Given the description of an element on the screen output the (x, y) to click on. 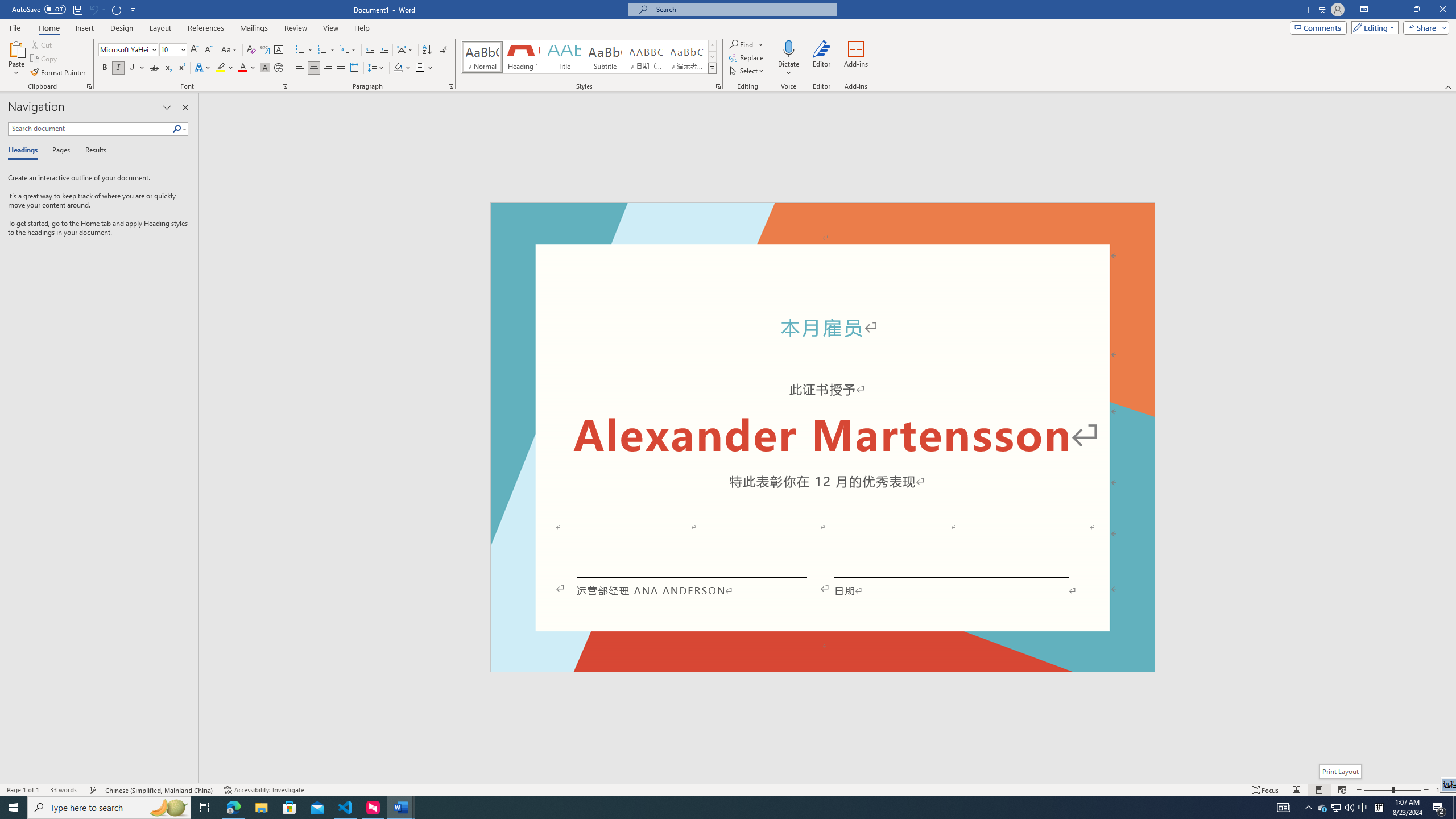
Zoom 104% (1443, 790)
Can't Undo (96, 9)
